Given the description of an element on the screen output the (x, y) to click on. 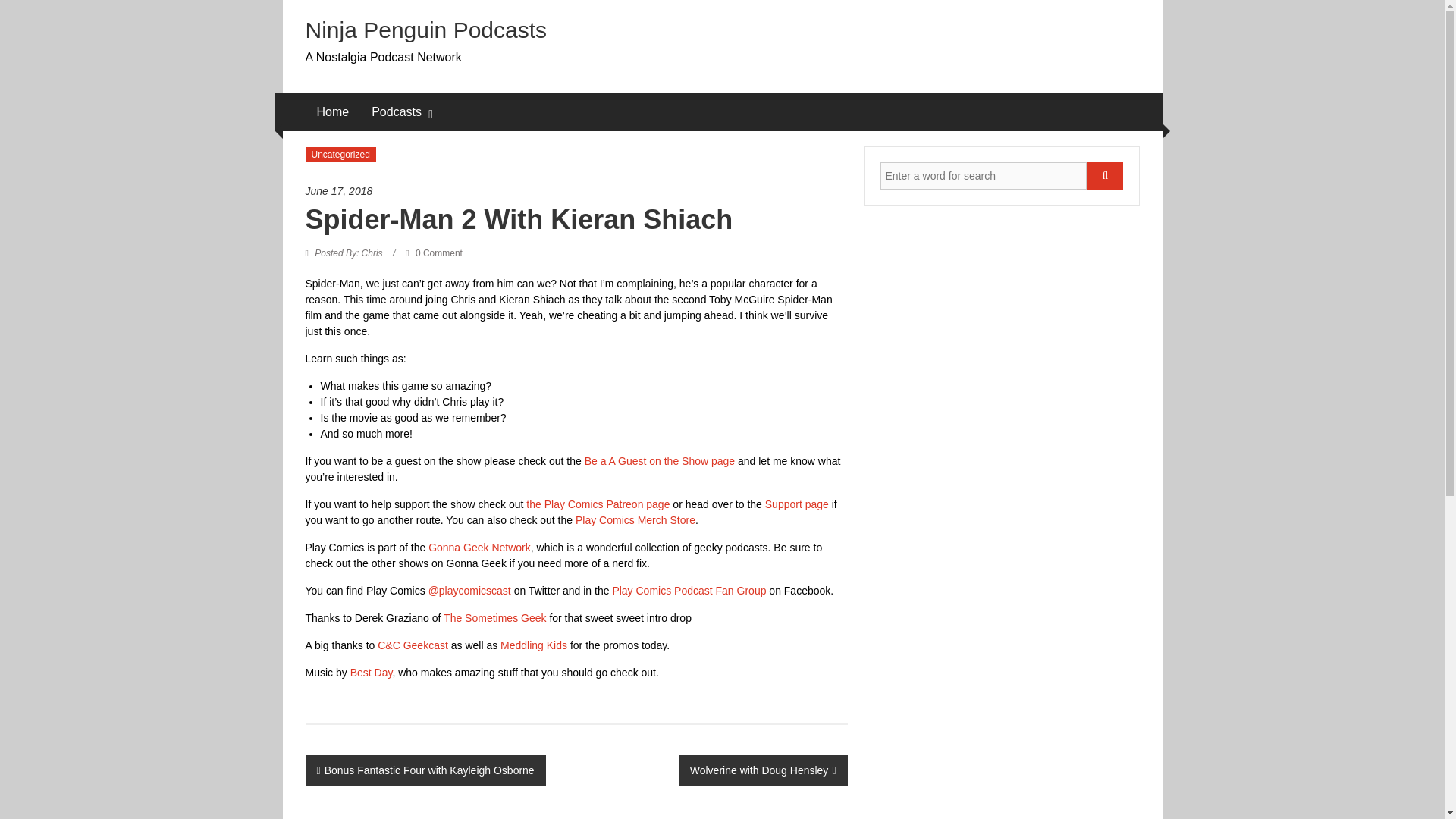
Best Day (371, 672)
June 17, 2018 (575, 191)
Support page (796, 503)
6:00 am (575, 191)
Uncategorized (339, 154)
Meddling Kids  (535, 645)
Wolverine with Doug Hensley (762, 770)
Play Comics Podcast Fan Group (688, 590)
Podcasts (396, 112)
Ninja Penguin Podcasts (425, 29)
